Given the description of an element on the screen output the (x, y) to click on. 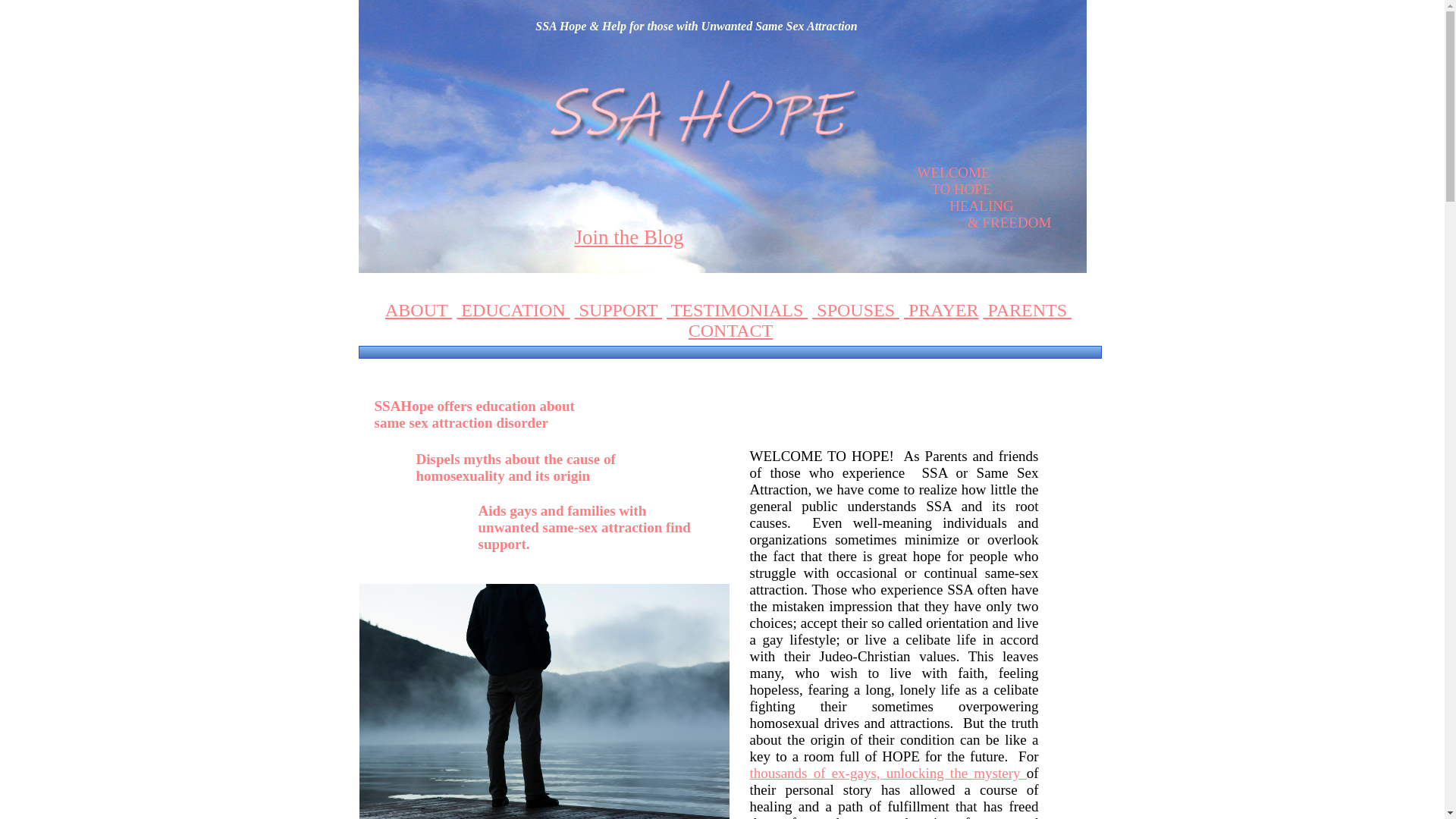
About SSA Hope (418, 310)
SUPPORT (618, 310)
EDUCATION (513, 310)
Help for parents of same sex attracted children (1026, 310)
PRAYER (941, 310)
Join the Blog (627, 237)
Support Groups for Same Sex Attraction Issues (618, 310)
Education about Same Sex Attraction (513, 310)
thousands of ex-gays, unlocking the mystery (887, 772)
PARENTS (1026, 310)
Same Sex Attraction Prayer Support (941, 310)
Contact SSA Hope (730, 330)
ABOUT (418, 310)
TESTIMONIALS (737, 310)
SPOUSES (855, 310)
